Given the description of an element on the screen output the (x, y) to click on. 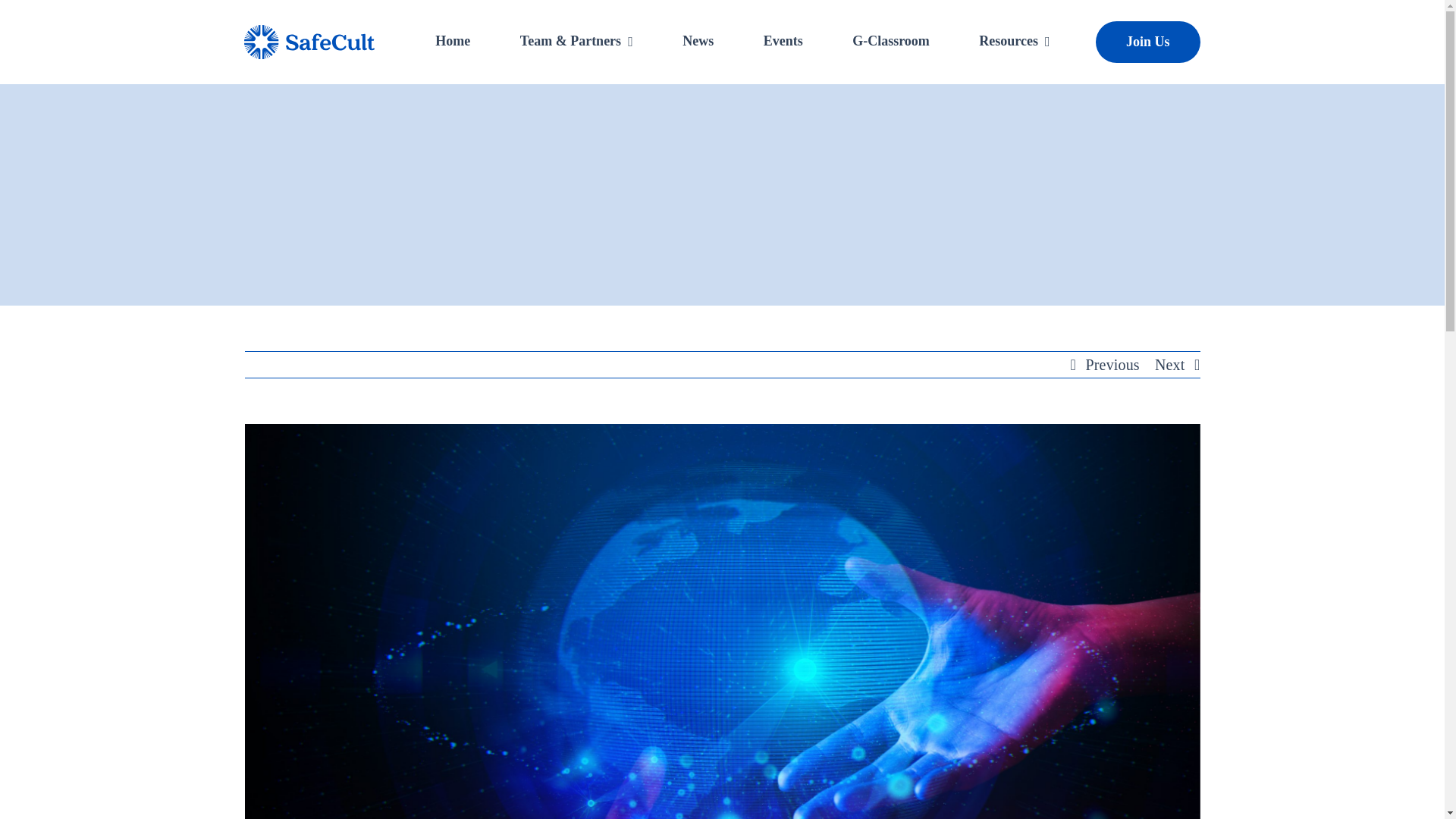
Home (452, 42)
Resources (1013, 42)
G-Classroom (890, 42)
Previous (1113, 364)
Next (1169, 364)
Events (783, 42)
News (697, 42)
Join Us (1147, 42)
